Given the description of an element on the screen output the (x, y) to click on. 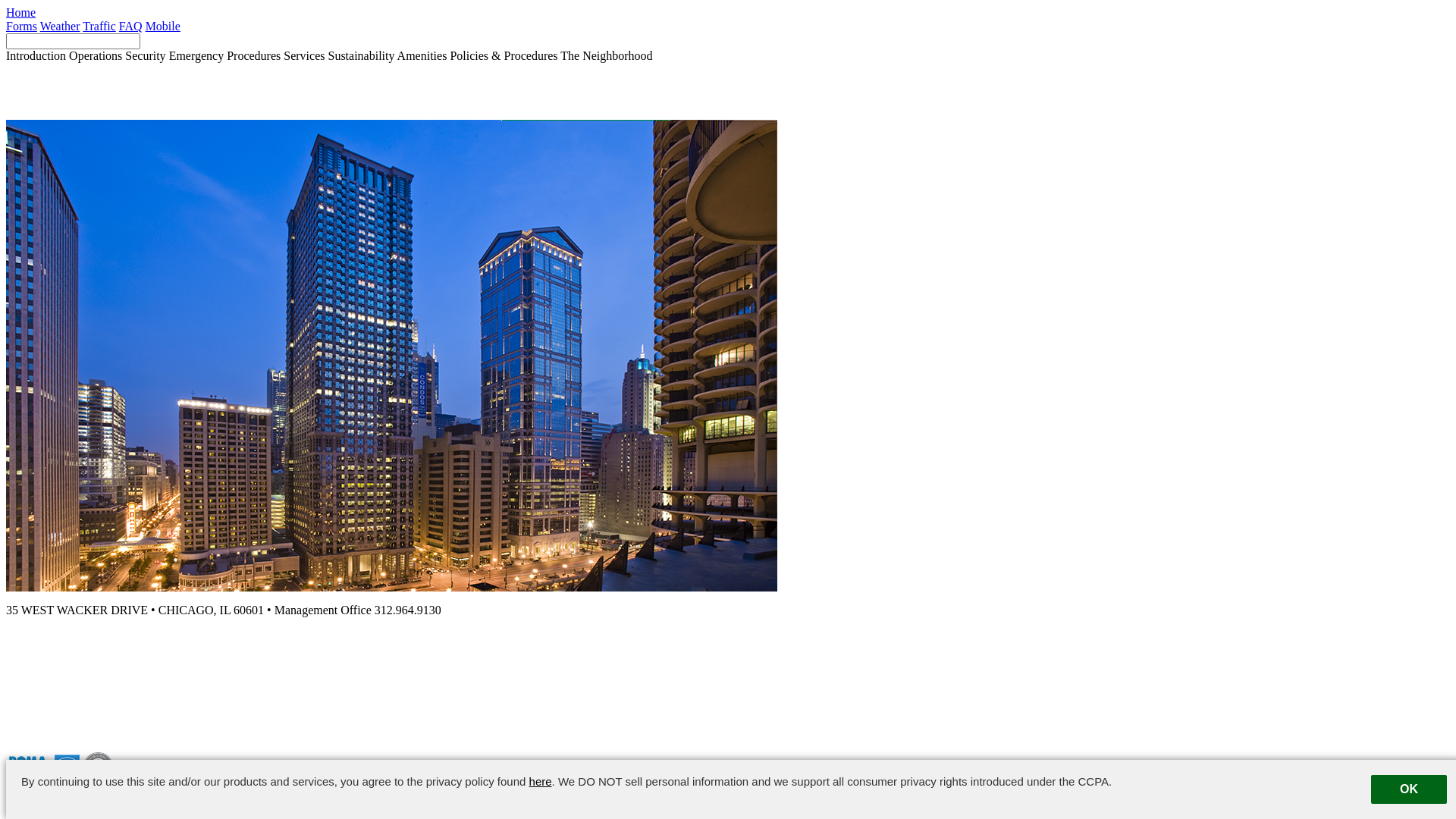
Traffic Element type: text (99, 25)
Home Element type: text (20, 12)
Forms Element type: text (21, 25)
Suggestion Box Element type: text (977, 795)
Powered by ETS. Element type: text (476, 795)
here Element type: text (540, 781)
FAQ Element type: text (130, 25)
Weather Element type: text (60, 25)
Mobile Element type: text (162, 25)
